Given the description of an element on the screen output the (x, y) to click on. 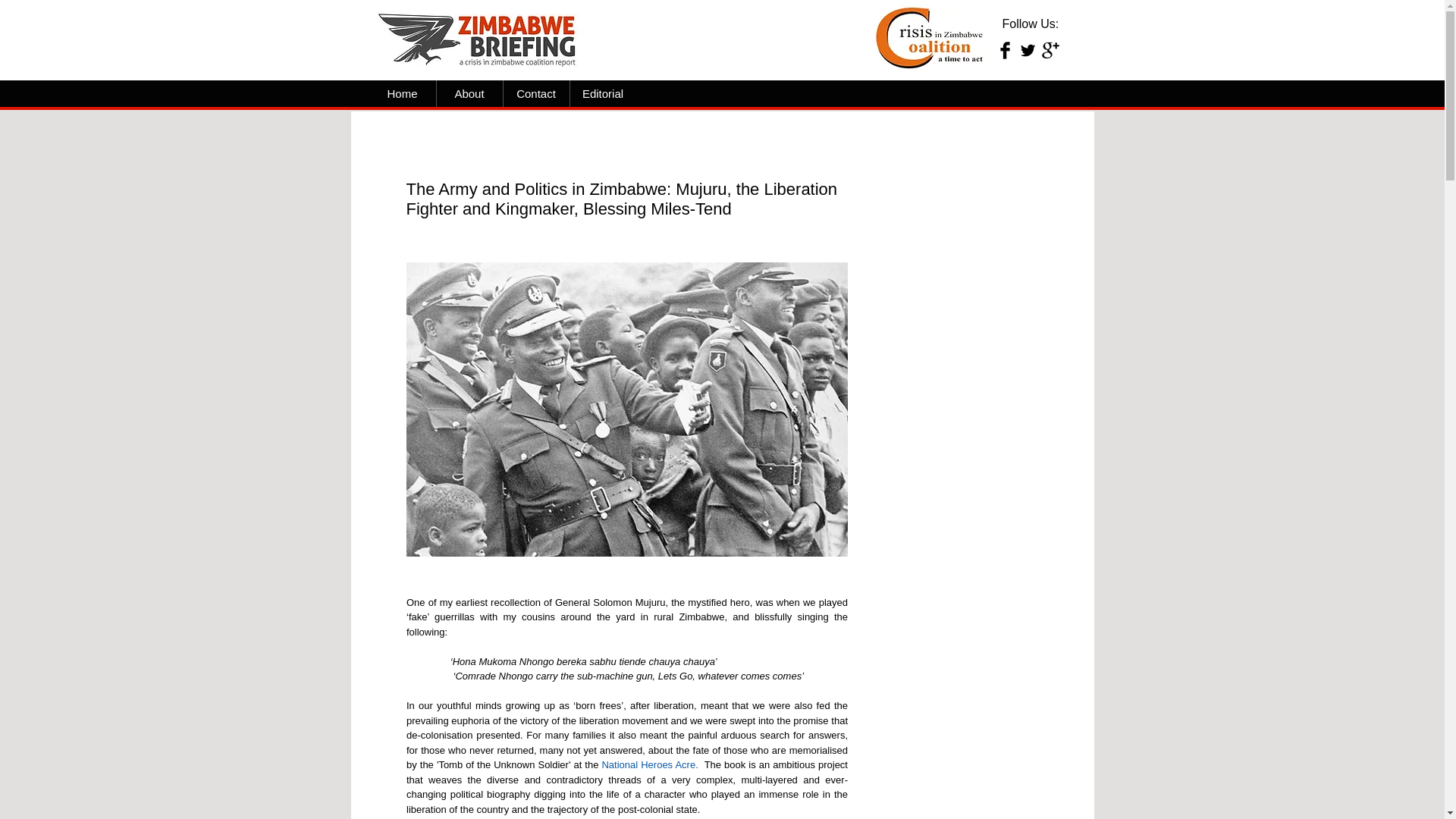
Home (401, 93)
Editorial (603, 93)
About (469, 93)
image001.jpg (481, 38)
Contact (536, 93)
National Heroes Acre. (649, 764)
